Given the description of an element on the screen output the (x, y) to click on. 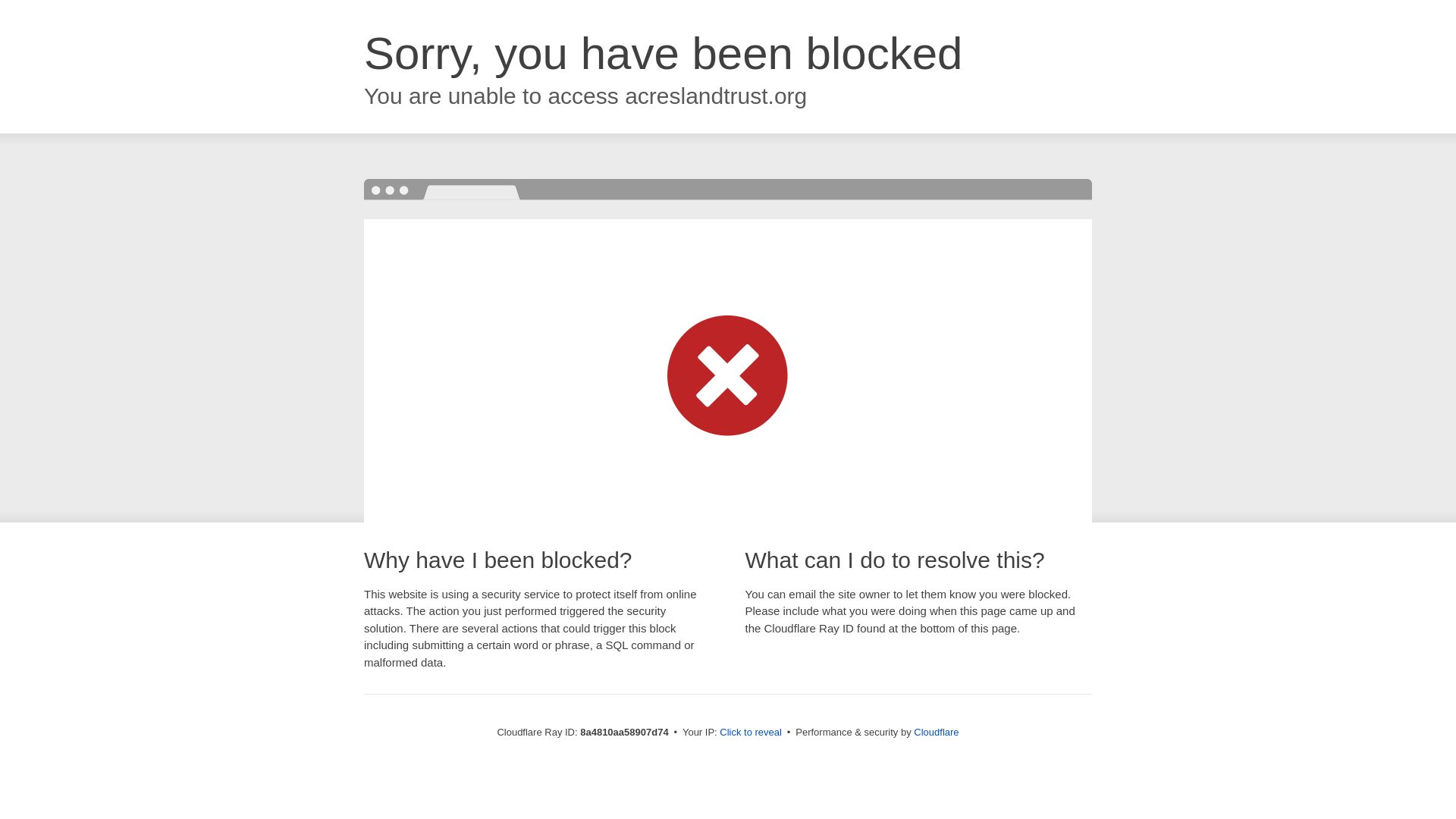
Click to reveal (750, 732)
Cloudflare (936, 731)
